Given the description of an element on the screen output the (x, y) to click on. 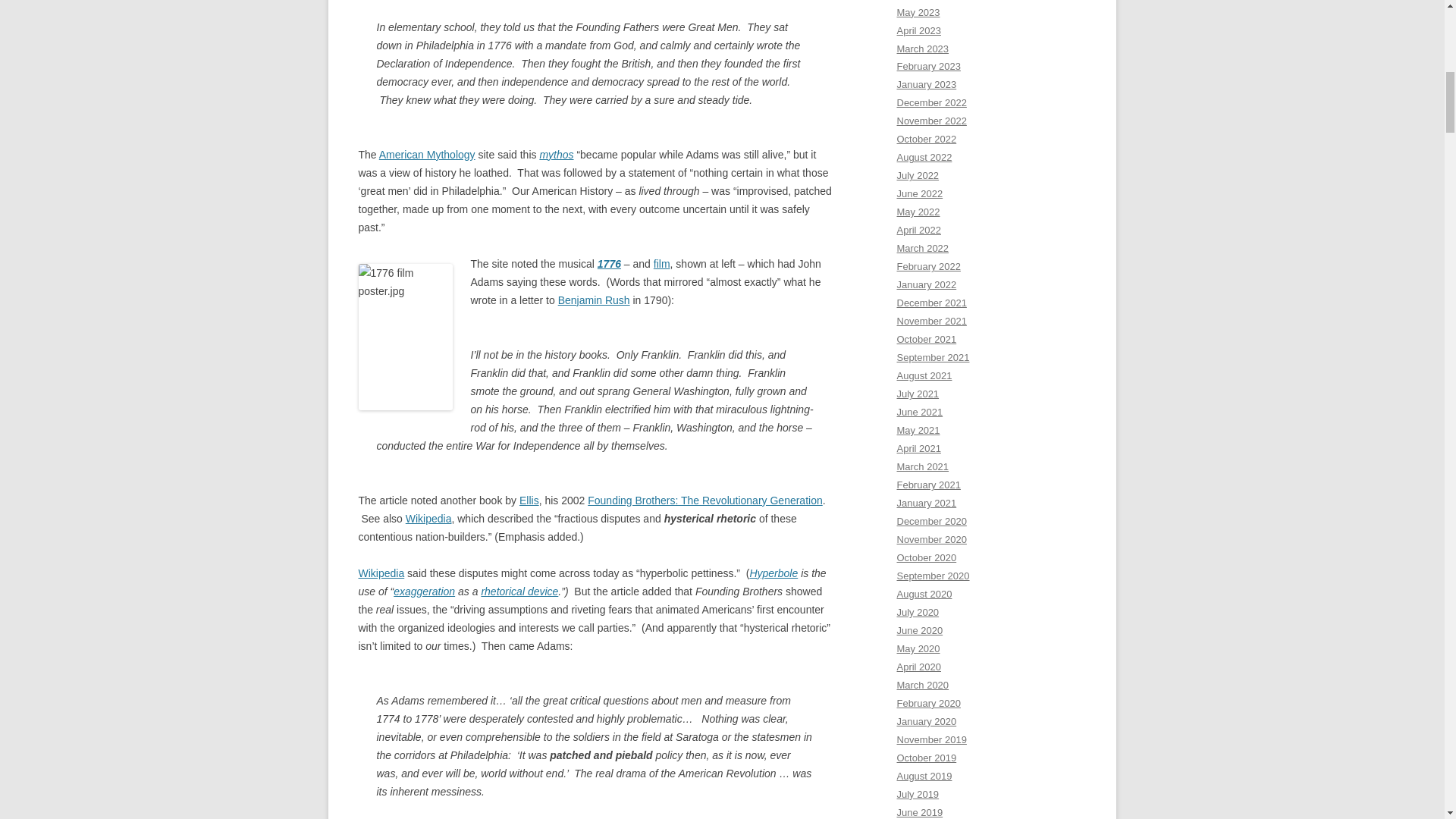
Rhetorical device (518, 591)
exaggeration (423, 591)
Wikipedia (381, 573)
Wikipedia (428, 518)
mythos (555, 154)
American Mythology (427, 154)
Hyperbole (773, 573)
Founding Brothers: The Revolutionary Generation (705, 500)
Benjamin Rush (593, 300)
Ellis (528, 500)
